Given the description of an element on the screen output the (x, y) to click on. 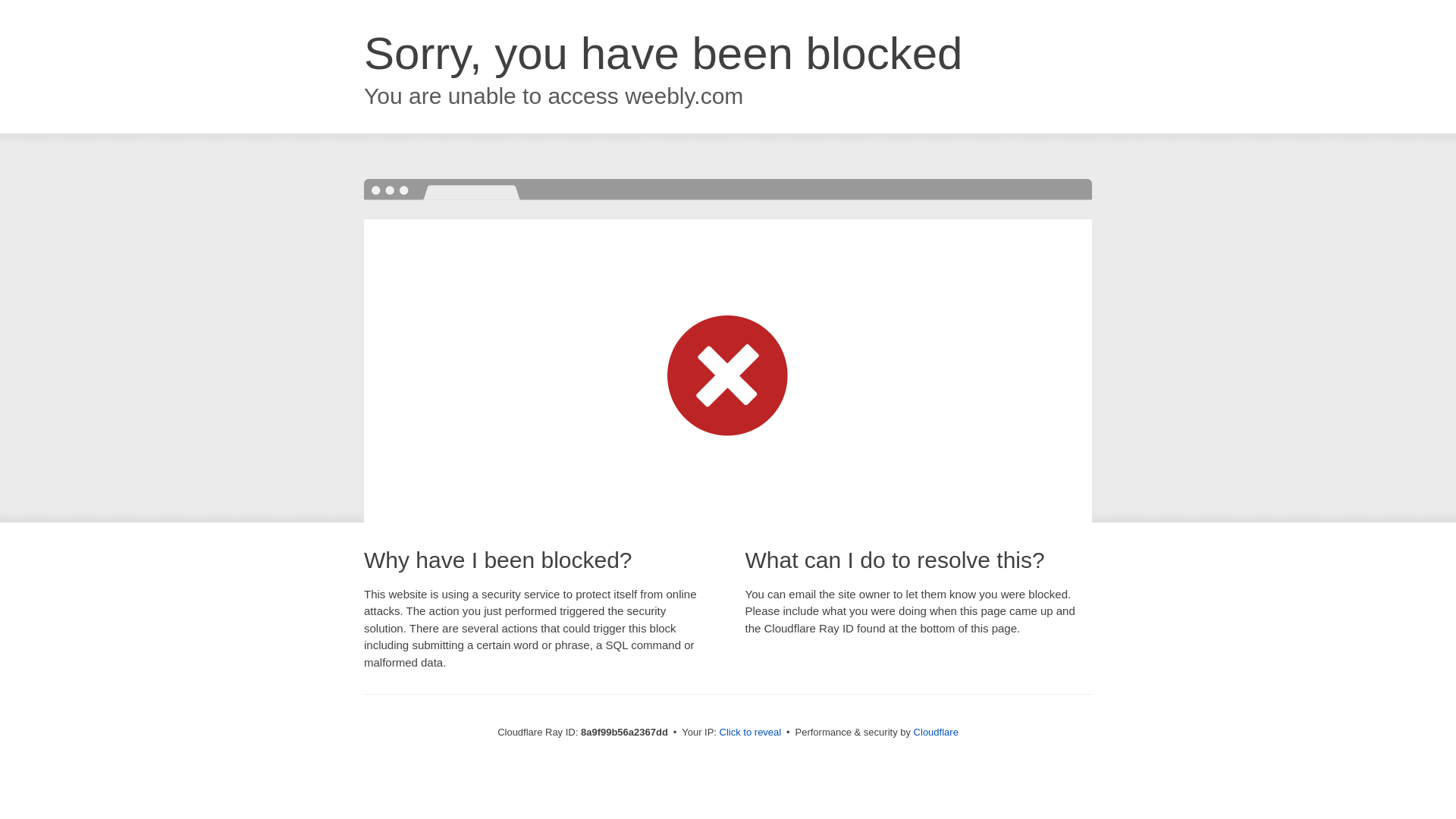
Cloudflare (936, 731)
Click to reveal (750, 732)
